Given the description of an element on the screen output the (x, y) to click on. 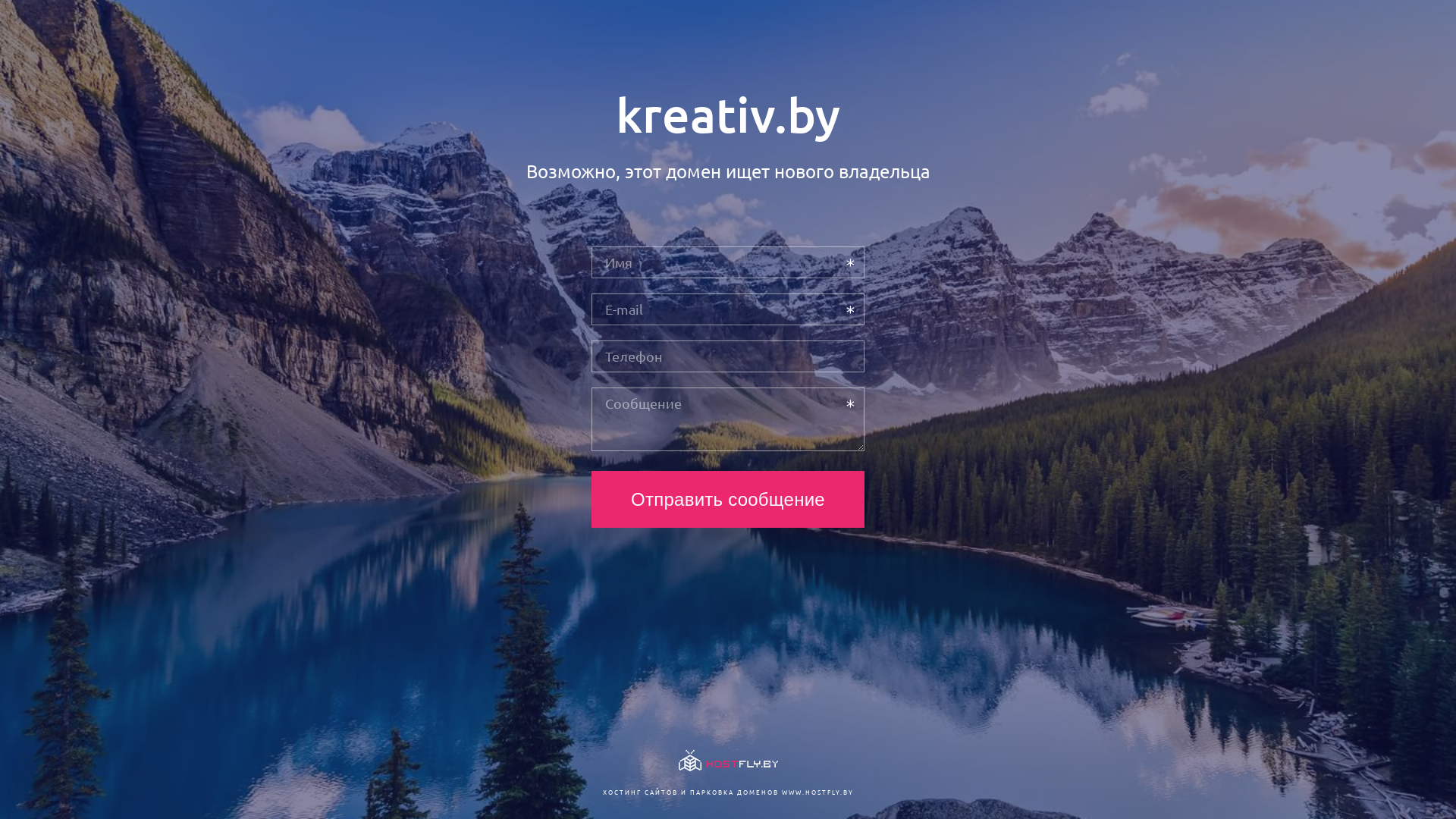
WWW.HOSTFLY.BY Element type: text (817, 791)
